Given the description of an element on the screen output the (x, y) to click on. 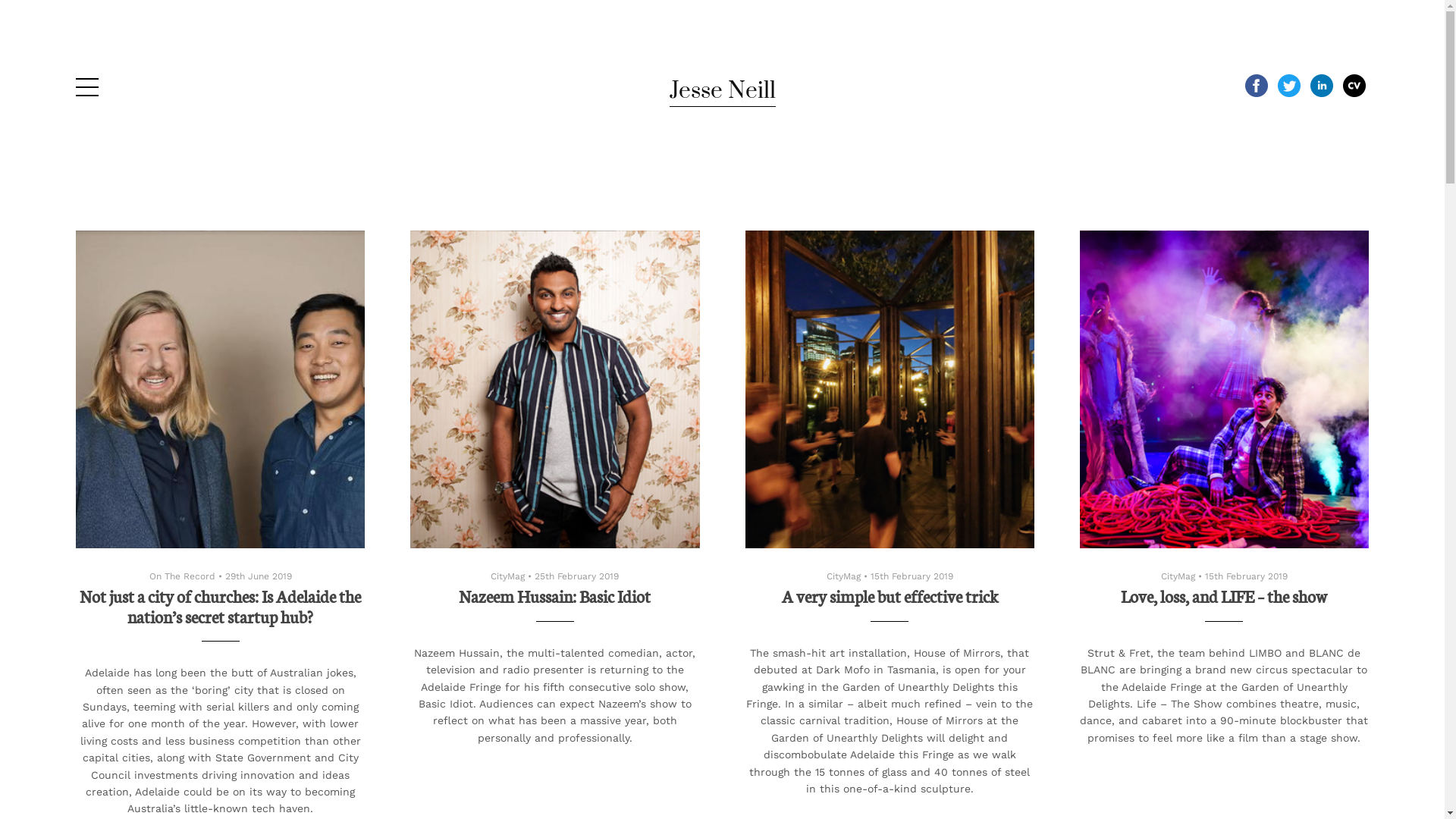
Jesse Neill Element type: text (721, 90)
